Given the description of an element on the screen output the (x, y) to click on. 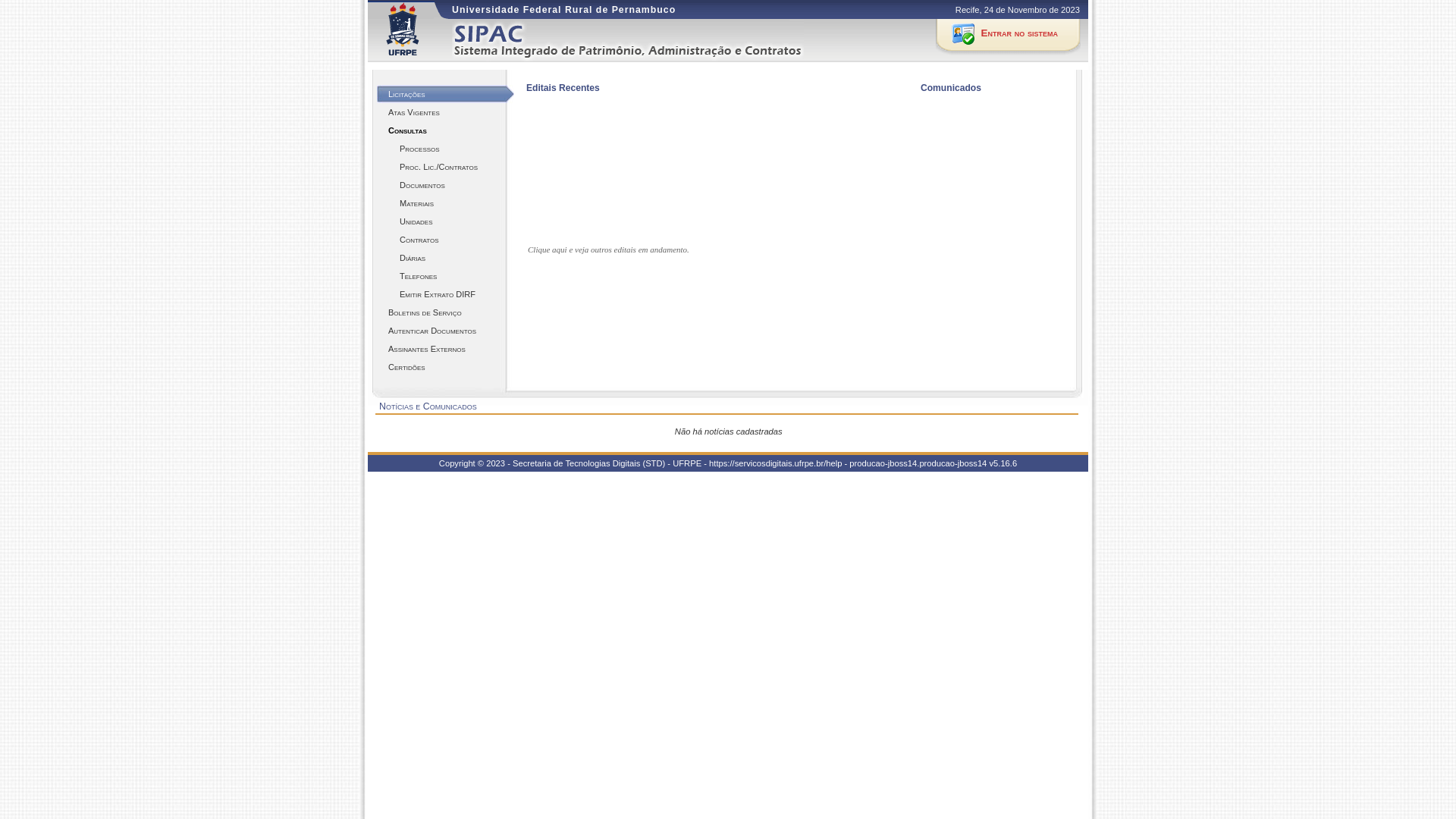
100 Element type: text (539, 111)
Entrar no sistema Element type: text (1007, 35)
600 Element type: text (554, 211)
Consultar Processo Element type: text (586, 225)
300 Element type: text (539, 150)
300 Element type: text (554, 154)
Gerar Element type: text (760, 171)
200 Element type: text (554, 139)
600 Element type: text (539, 207)
Consultar Processo Element type: text (570, 221)
2023 Element type: text (769, 114)
2023 Element type: text (754, 111)
23082 Element type: text (674, 114)
Clique aqui e veja outros editais em andamento. Element type: text (608, 249)
0 Element type: text (805, 196)
500 Element type: text (554, 195)
0 Element type: text (789, 192)
Buscar Element type: text (692, 125)
Buscar Element type: text (761, 202)
Consultar Material Element type: text (776, 173)
200 Element type: text (539, 136)
400 Element type: text (539, 175)
23082 Element type: text (659, 111)
400 Element type: text (554, 179)
v5.16.6 Element type: text (1002, 462)
-1 Element type: text (768, 158)
Assinantes Externos Element type: text (445, 348)
500 Element type: text (539, 192)
100 Element type: text (554, 114)
Consultar Documento Element type: text (589, 225)
